Given the description of an element on the screen output the (x, y) to click on. 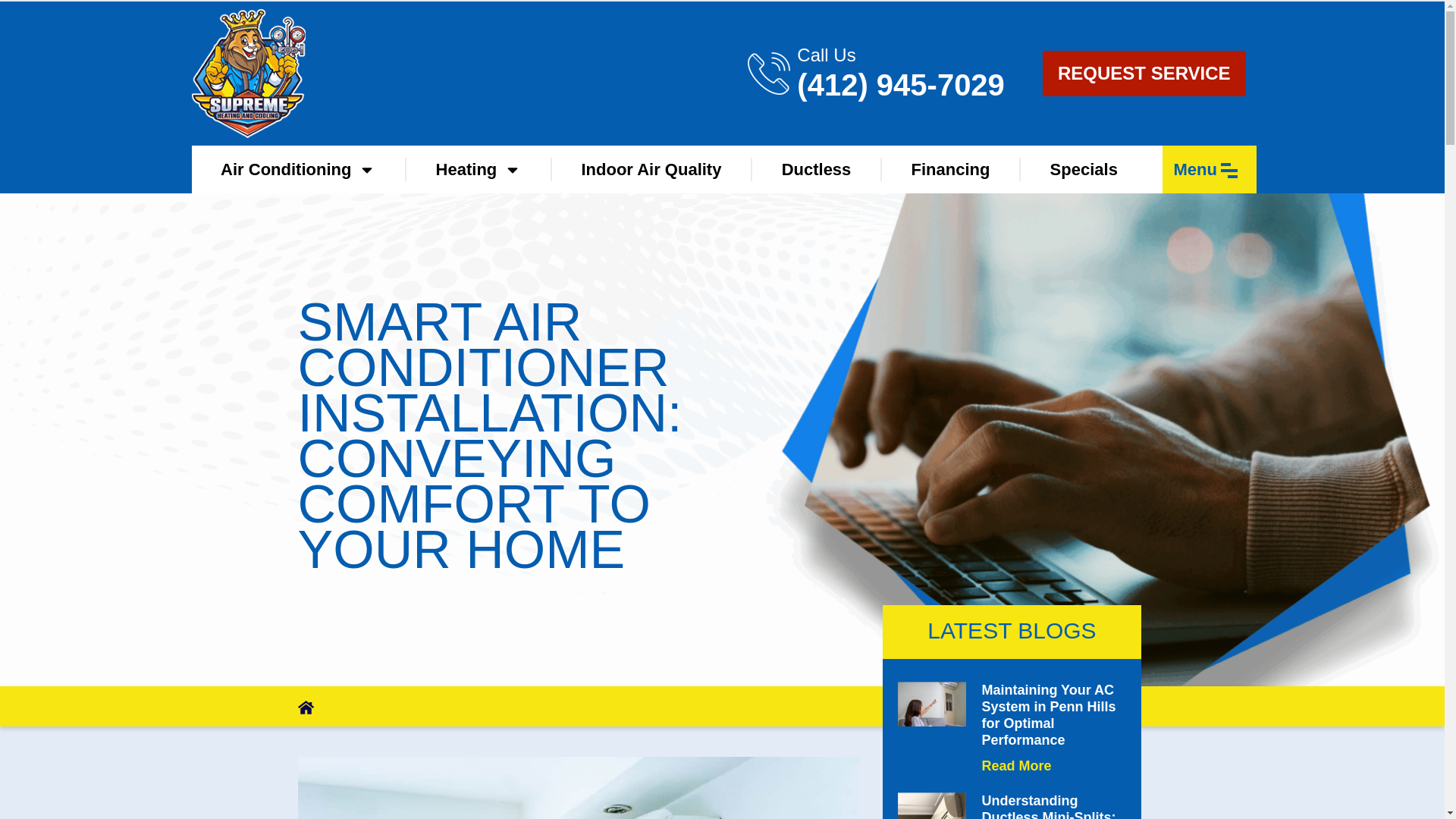
Air Conditioning (297, 168)
Financing (950, 168)
Ductless (816, 168)
Heating (478, 168)
Specials (1083, 168)
REQUEST SERVICE (1144, 73)
Indoor Air Quality (651, 168)
